Given the description of an element on the screen output the (x, y) to click on. 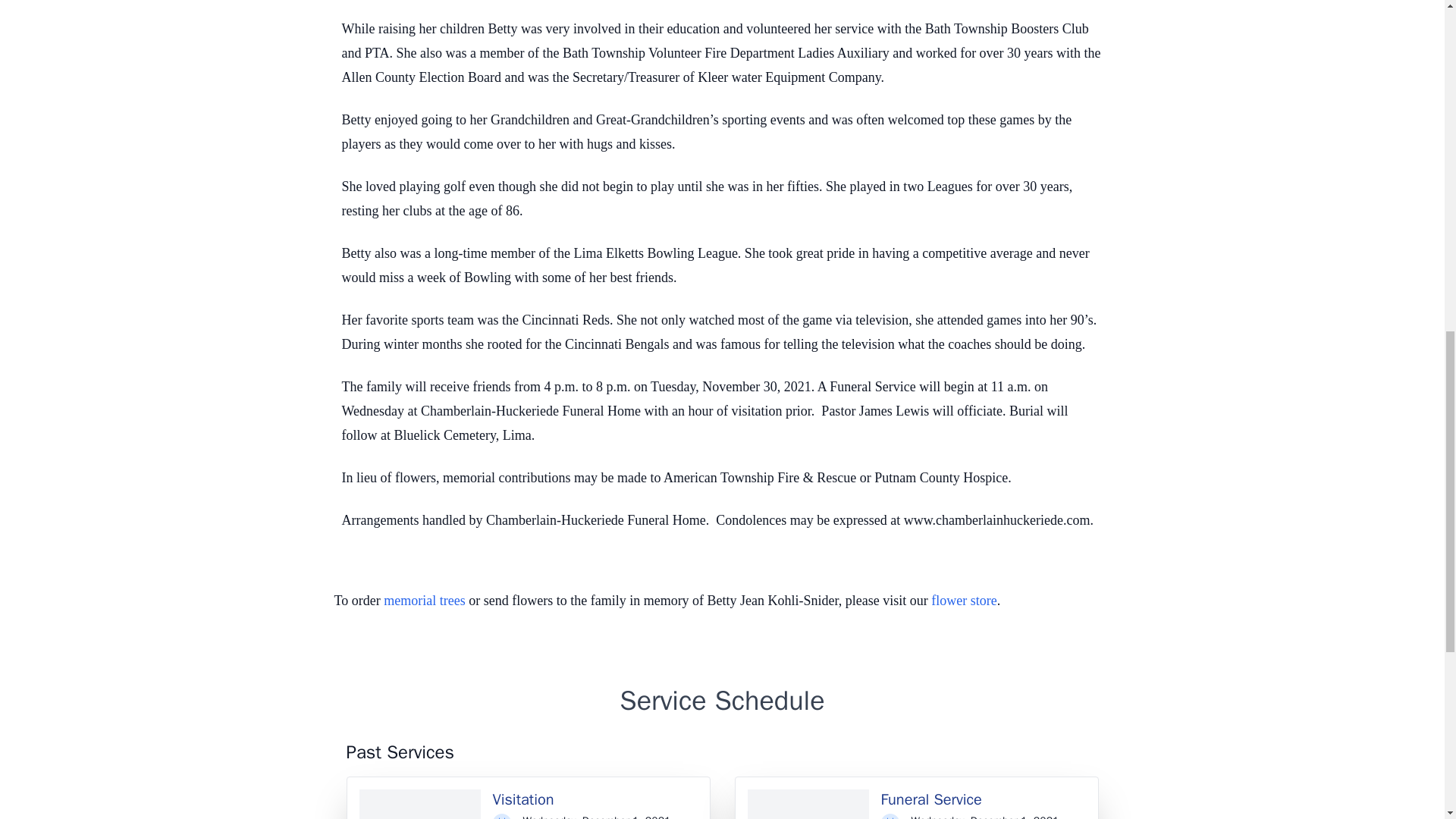
flower store (963, 600)
memorial trees (424, 600)
